Given the description of an element on the screen output the (x, y) to click on. 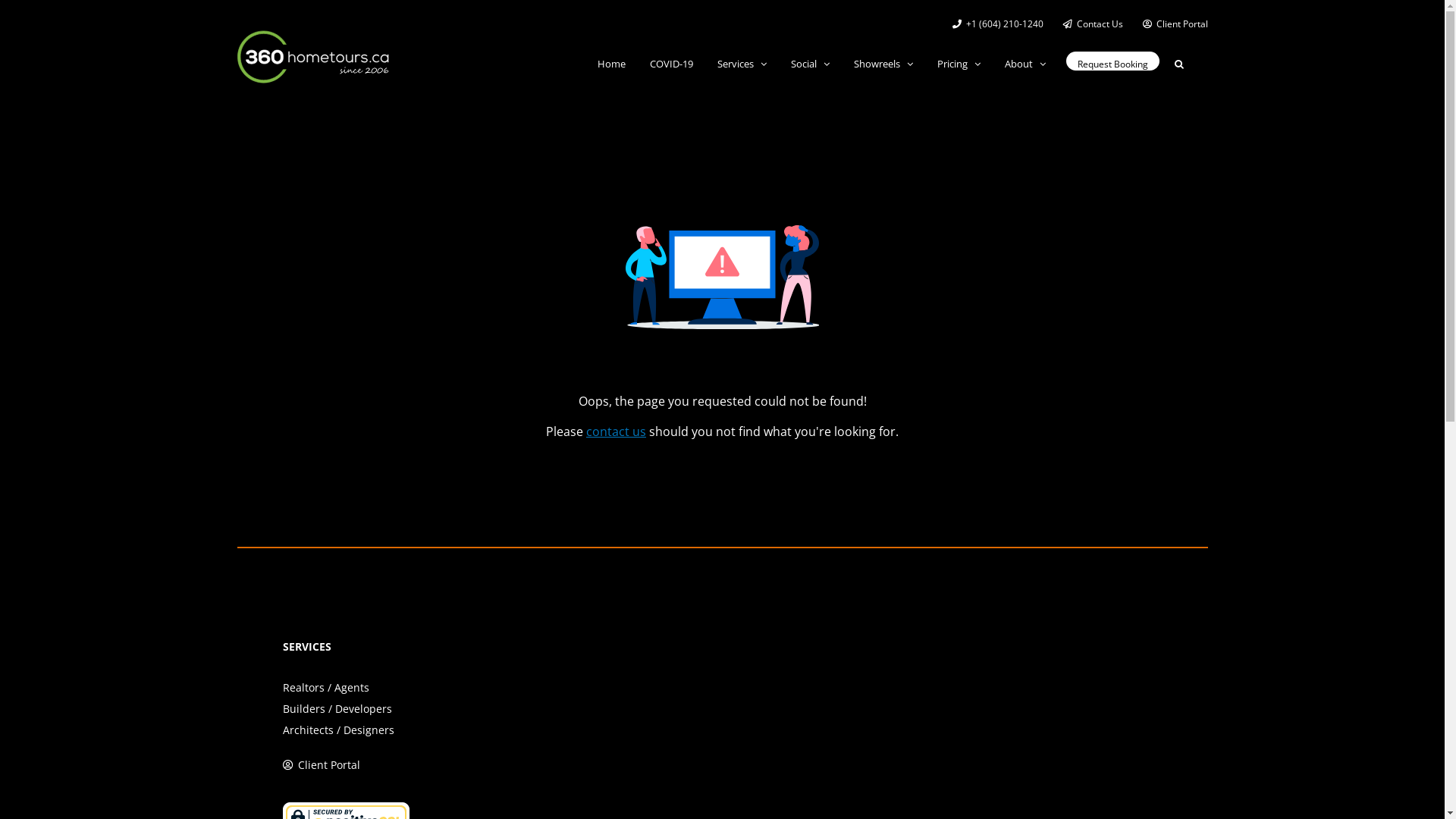
Client Portal Element type: text (328, 764)
About Element type: text (1024, 63)
Architects / Designers Element type: text (337, 729)
Services Element type: text (741, 63)
COVID-19 Element type: text (670, 63)
contact us Element type: text (616, 431)
+1 (604) 210-1240 Element type: text (996, 23)
Showreels Element type: text (883, 63)
Pricing Element type: text (958, 63)
Social Element type: text (809, 63)
Realtors / Agents Element type: text (325, 687)
Builders / Developers Element type: text (336, 708)
Contact Us Element type: text (1092, 23)
Home Element type: text (611, 63)
Search Element type: hover (1178, 63)
Client Portal Element type: text (1170, 23)
Request Booking Element type: text (1112, 63)
